Given the description of an element on the screen output the (x, y) to click on. 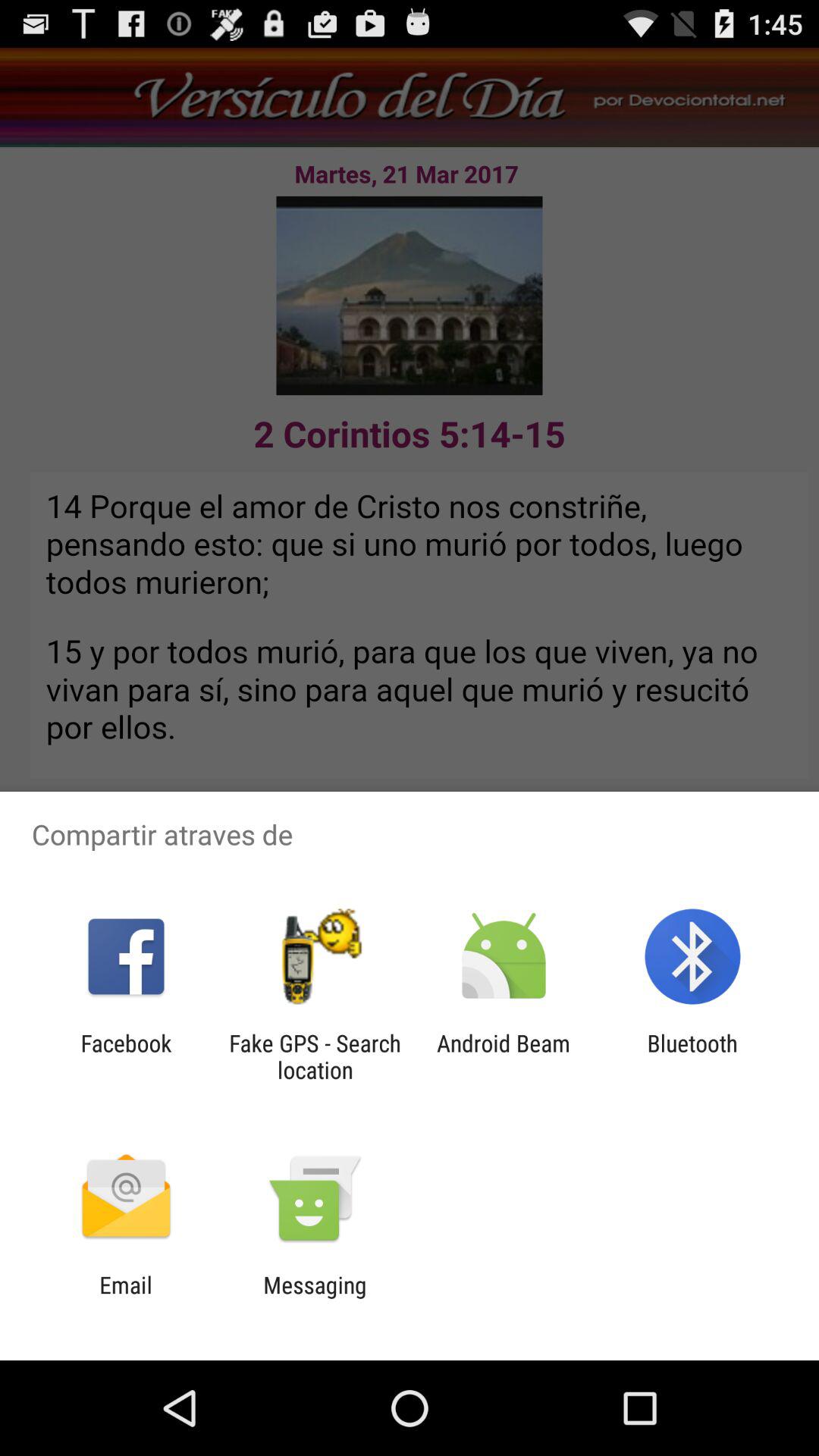
tap the app next to the messaging icon (125, 1298)
